Given the description of an element on the screen output the (x, y) to click on. 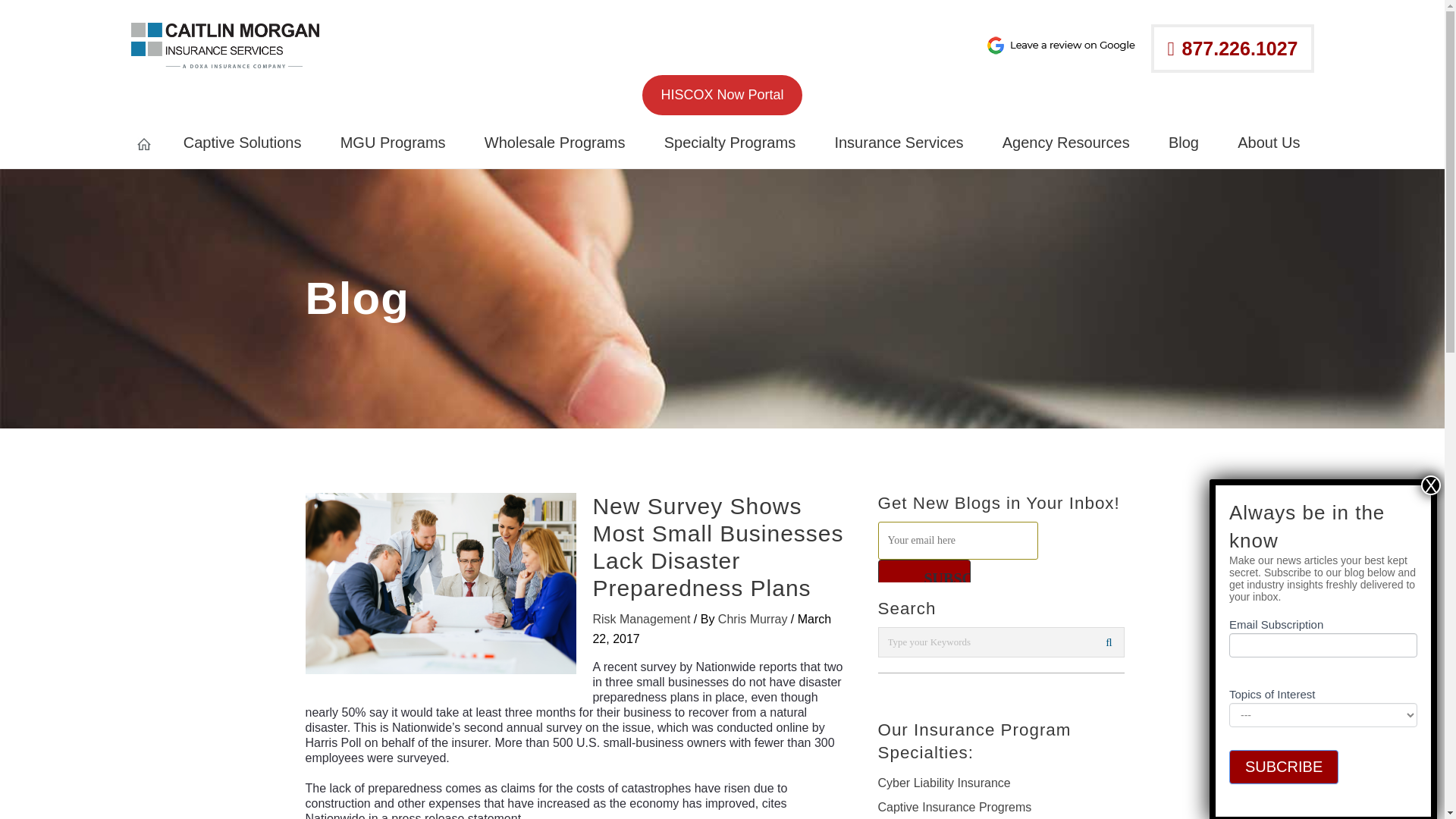
View all posts by Chris Murray (753, 618)
MGU Programs (393, 142)
Captive Solutions (242, 142)
HISCOX Now Portal (721, 95)
877.226.1027 (1232, 48)
Search (1108, 642)
Specialty Programs (729, 142)
Subscribe (924, 578)
Wholesale Programs (554, 142)
